Given the description of an element on the screen output the (x, y) to click on. 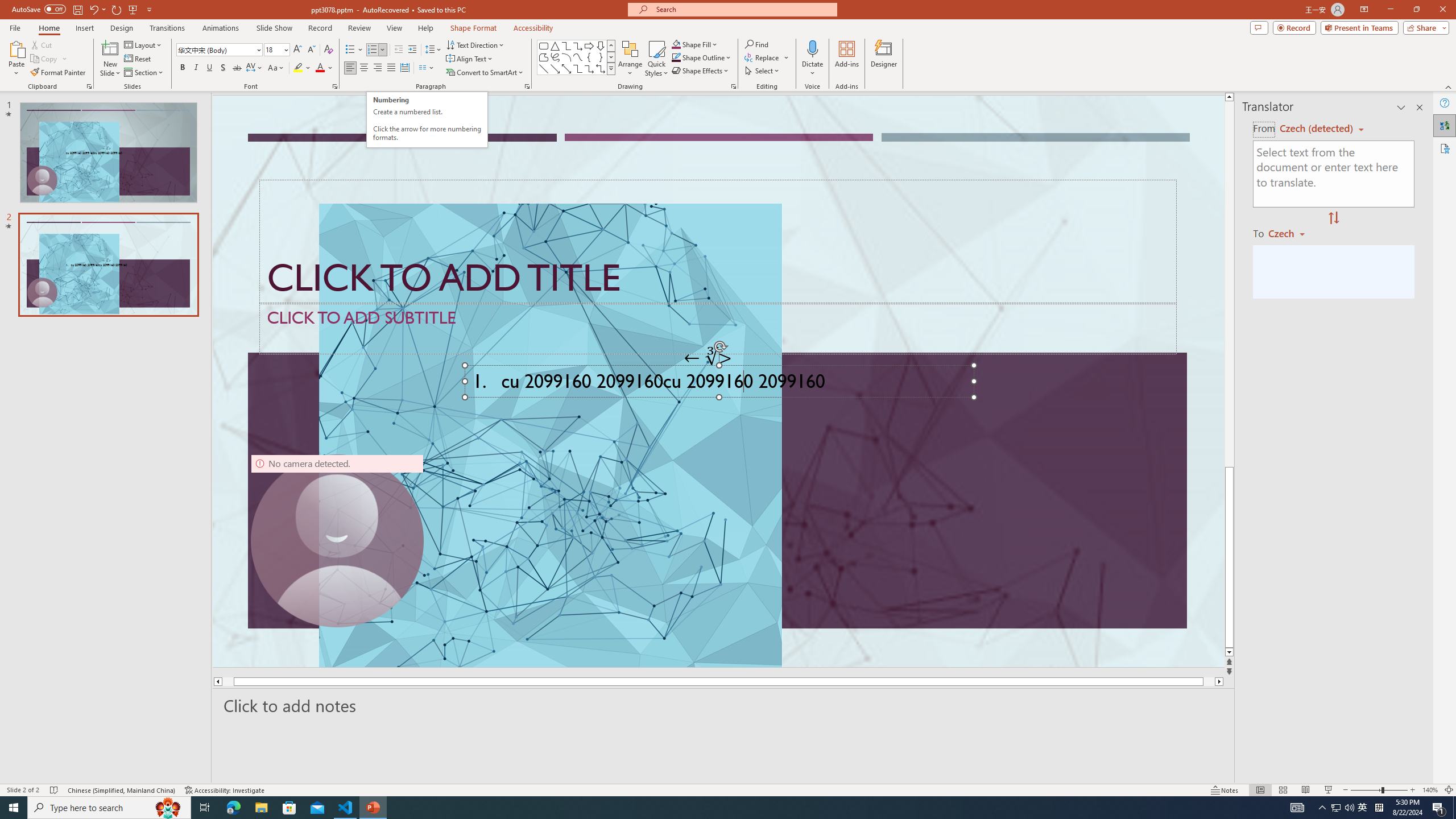
Line Arrow (554, 68)
Font Color (324, 67)
Czech (1291, 232)
Character Spacing (254, 67)
Office Clipboard... (88, 85)
Line (543, 68)
Left Brace (589, 57)
